Given the description of an element on the screen output the (x, y) to click on. 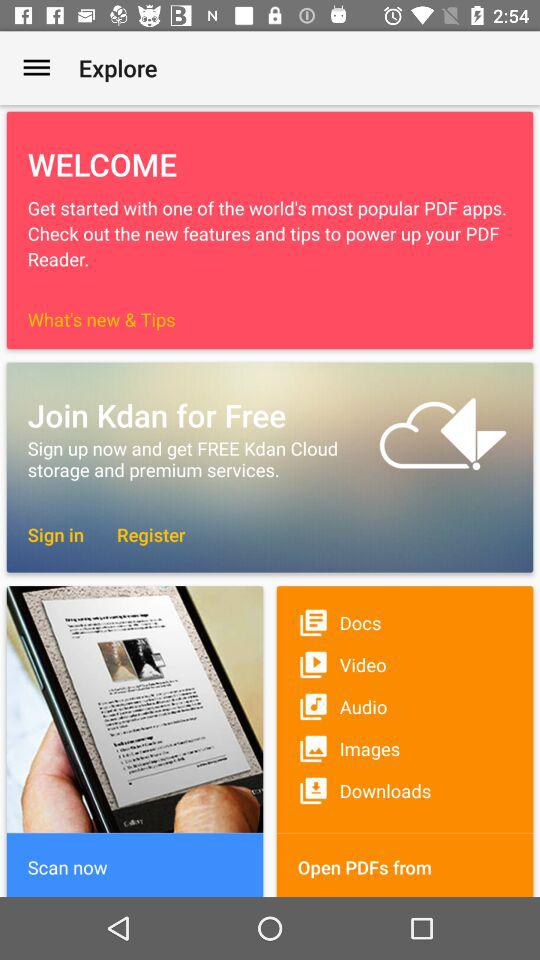
turn off icon above the images (404, 706)
